Given the description of an element on the screen output the (x, y) to click on. 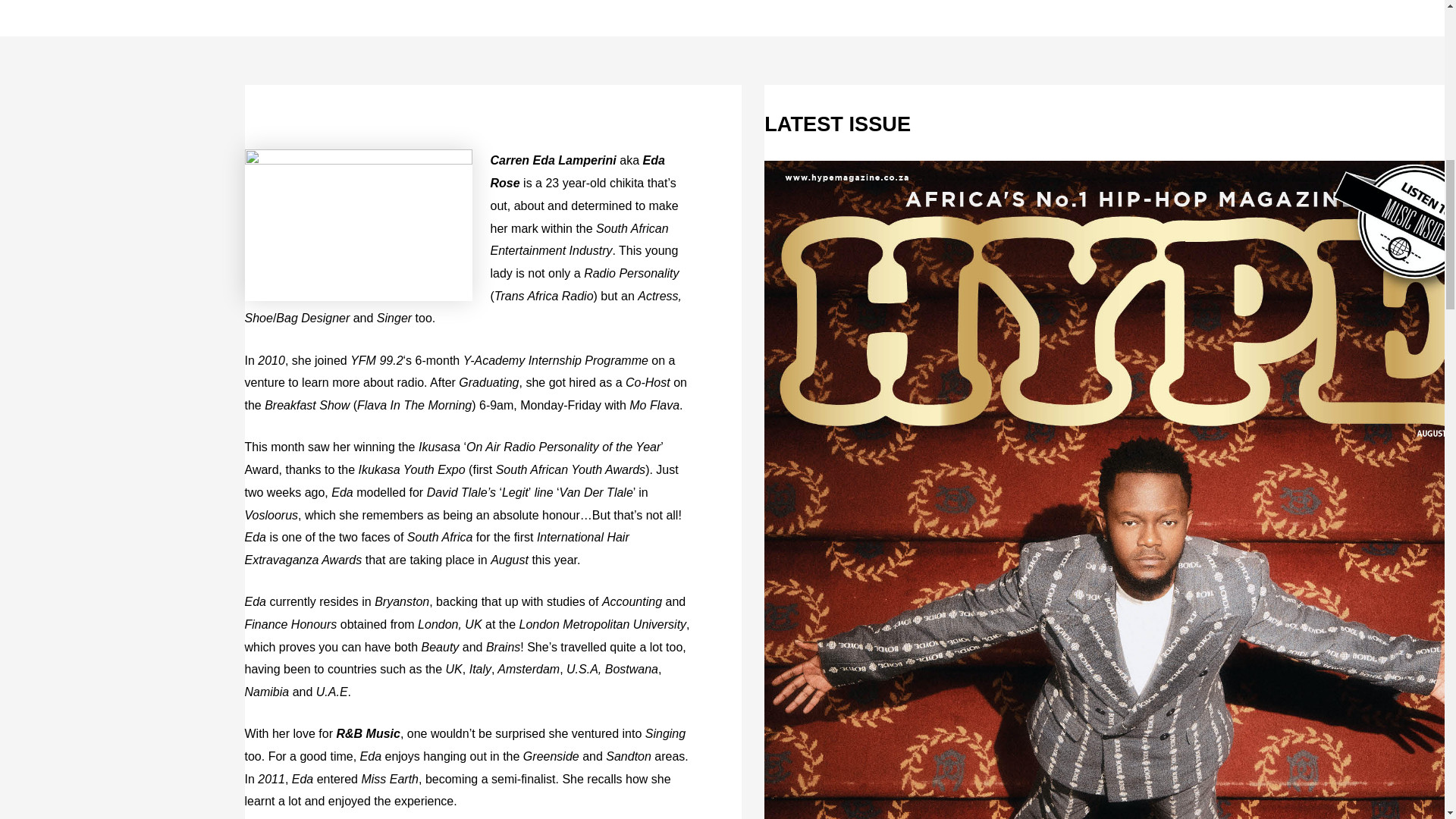
ninja (369, 2)
News (244, 2)
Eda Rose (357, 225)
View all posts by ninja (369, 2)
